Given the description of an element on the screen output the (x, y) to click on. 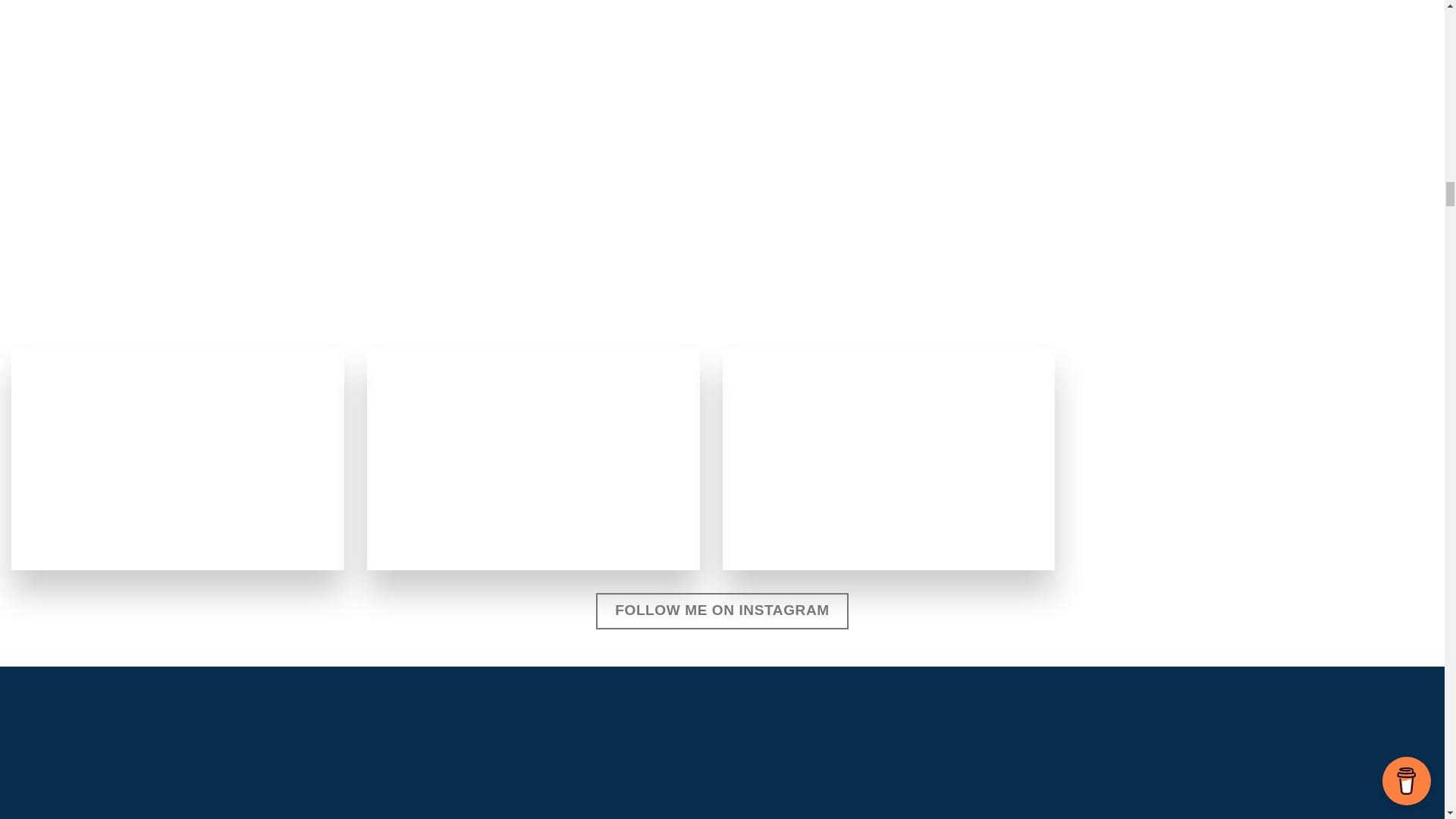
FOLLOW ME ON INSTAGRAM (721, 610)
